Given the description of an element on the screen output the (x, y) to click on. 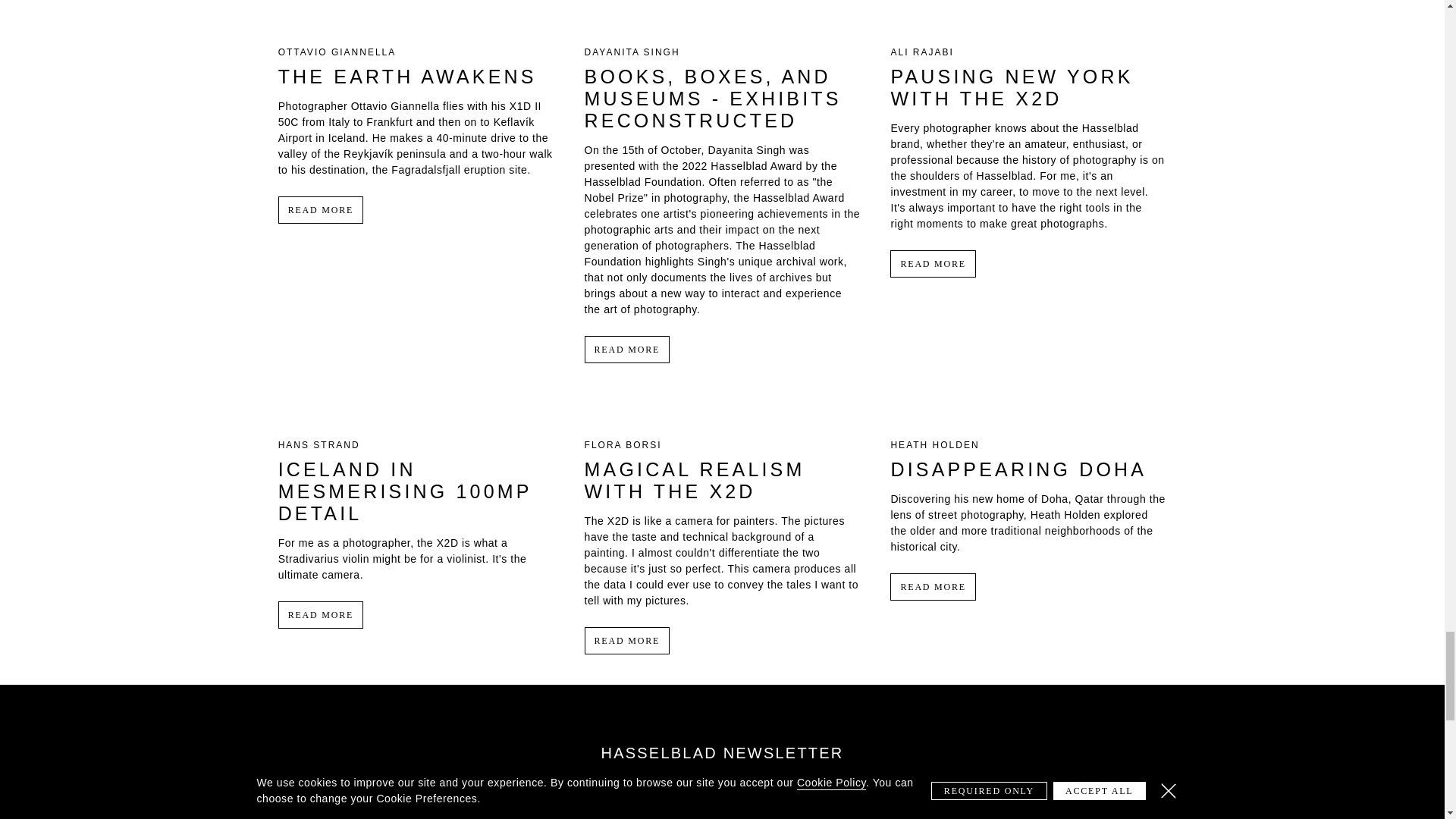
READ MORE (627, 349)
READ MORE (932, 263)
READ MORE (932, 586)
READ MORE (321, 614)
READ MORE (627, 640)
READ MORE (321, 209)
